Given the description of an element on the screen output the (x, y) to click on. 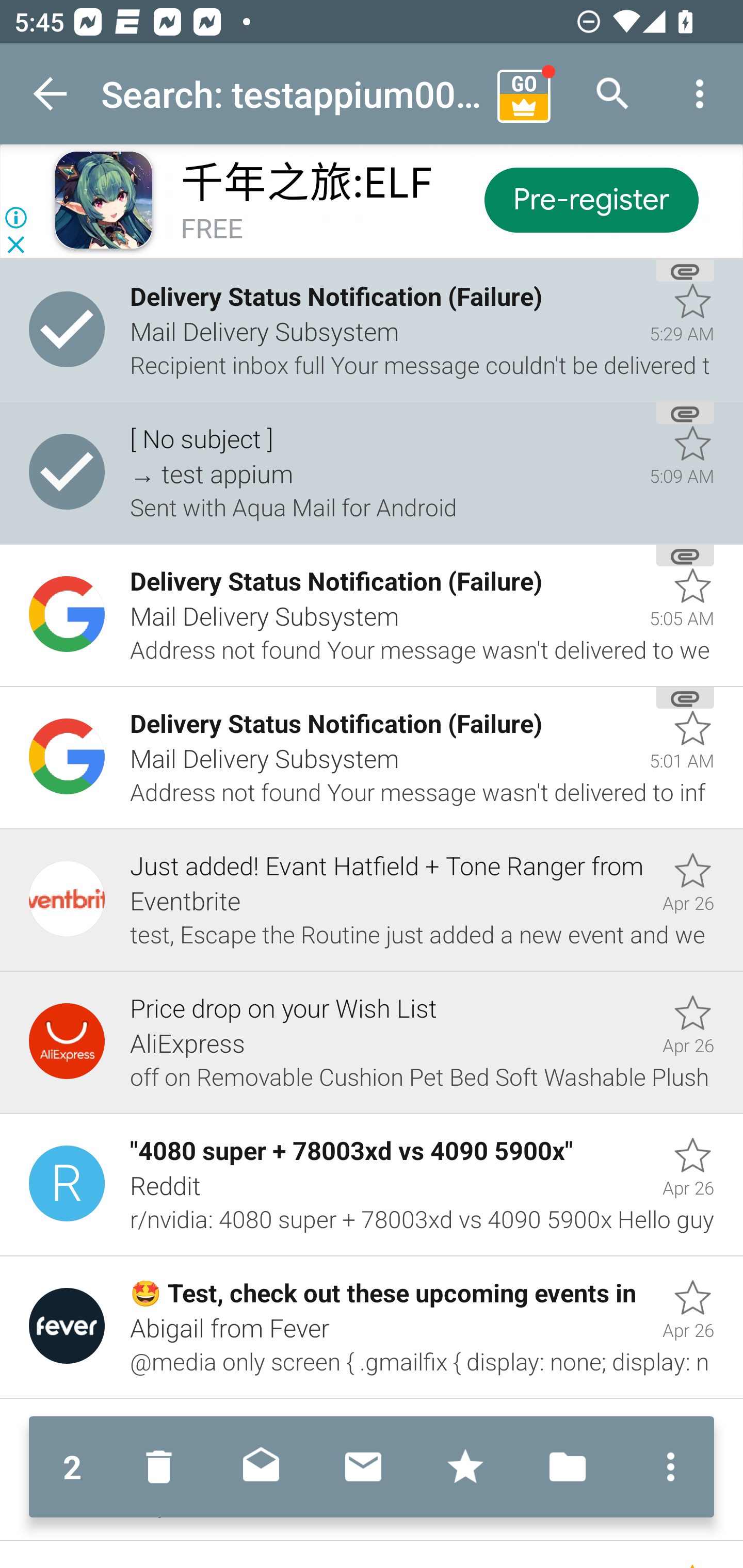
Navigate up (50, 93)
Search (612, 93)
More options (699, 93)
千年之旅:ELF (306, 183)
Pre-register (590, 199)
FREE (211, 230)
2 2 messages (71, 1466)
Move to Deleted (162, 1466)
Mark read (261, 1466)
Mark unread (363, 1466)
Mark with stars (465, 1466)
Move to folder… (567, 1466)
More options (666, 1466)
